Given the description of an element on the screen output the (x, y) to click on. 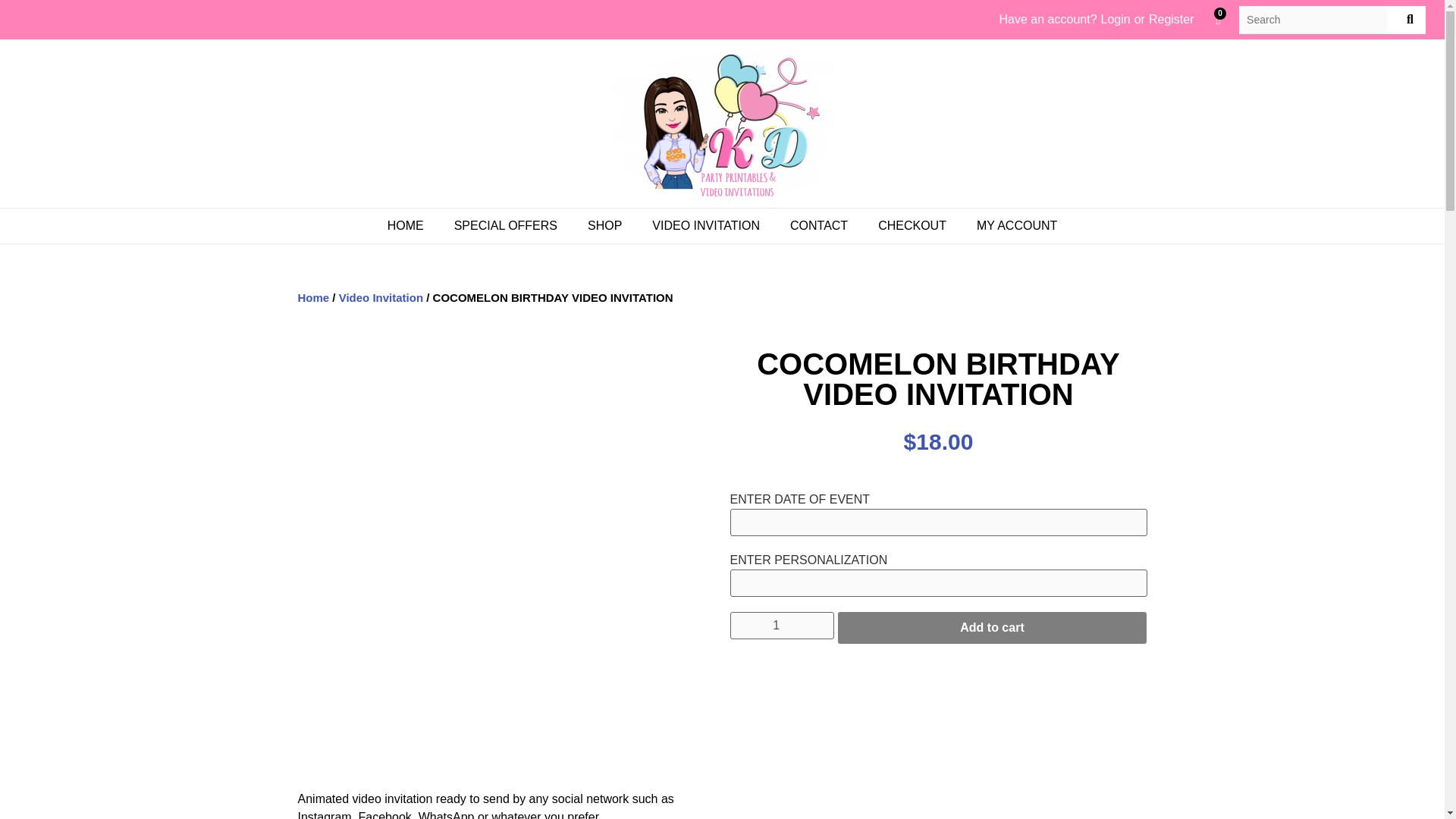
Add to cart (992, 627)
SPECIAL OFFERS (505, 225)
MY ACCOUNT (1015, 225)
Register (1170, 19)
Qty (781, 625)
Video Invitation (381, 297)
HOME (405, 225)
Home (313, 297)
0 (1219, 20)
SHOP (604, 225)
1 (781, 625)
Login (1115, 19)
CHECKOUT (911, 225)
VIDEO INVITATION (705, 225)
CONTACT (818, 225)
